Given the description of an element on the screen output the (x, y) to click on. 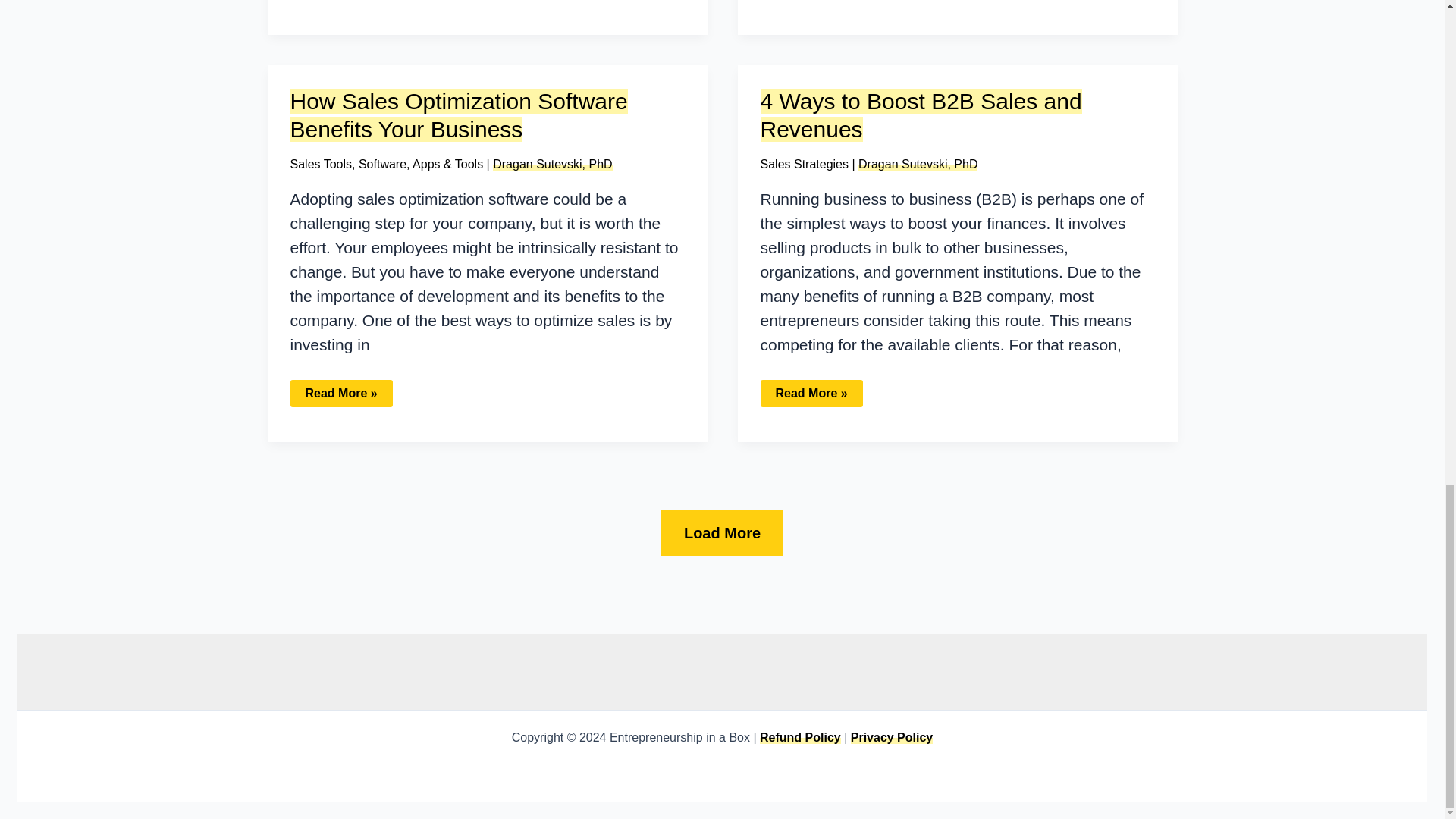
View all posts by Dragan Sutevski, PhD (552, 164)
View all posts by Dragan Sutevski, PhD (917, 164)
How Sales Optimization Software Benefits Your Business (458, 114)
